Given the description of an element on the screen output the (x, y) to click on. 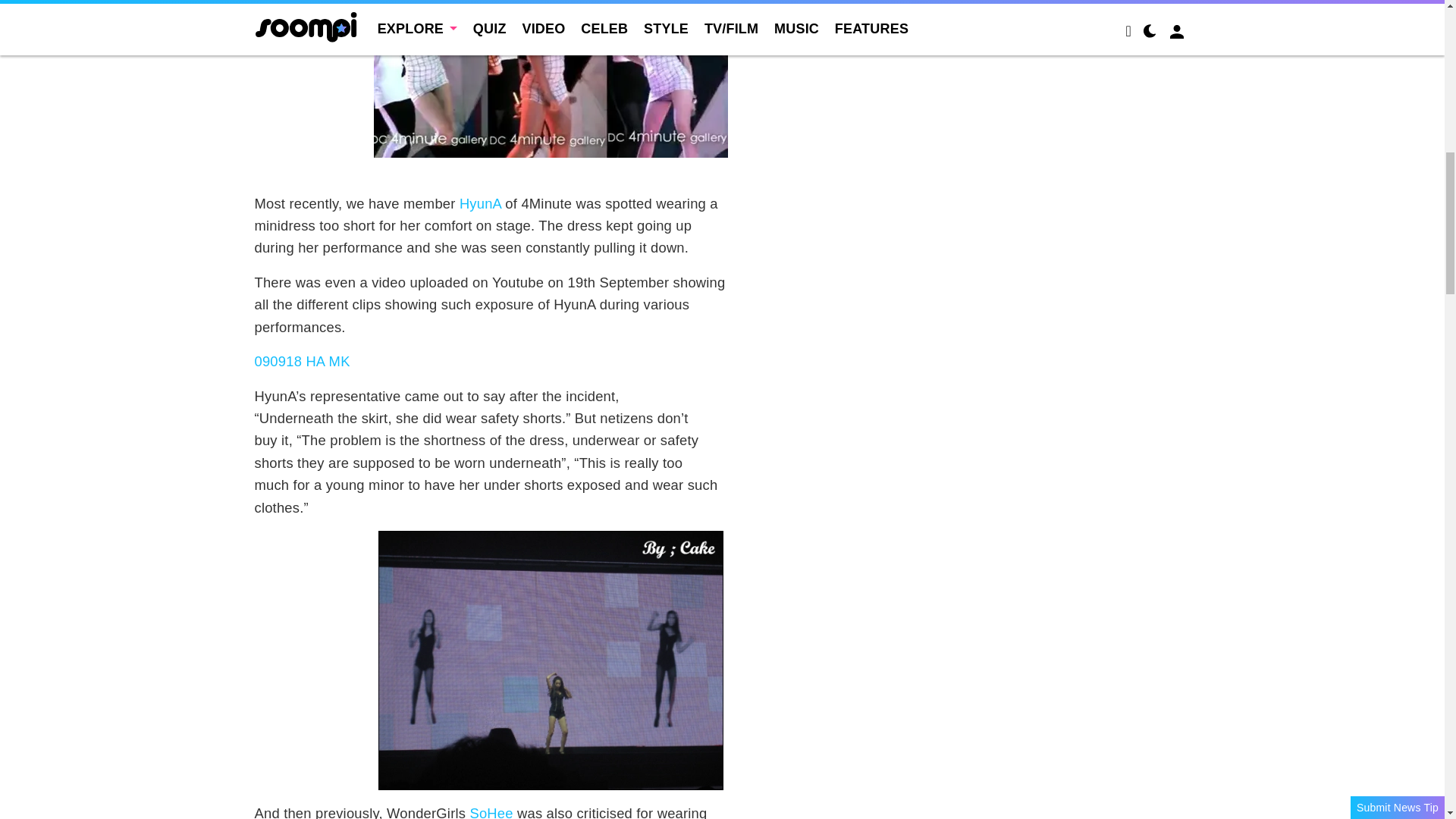
SoHee (490, 812)
090918 HA MK (302, 360)
HyunA (480, 203)
